Given the description of an element on the screen output the (x, y) to click on. 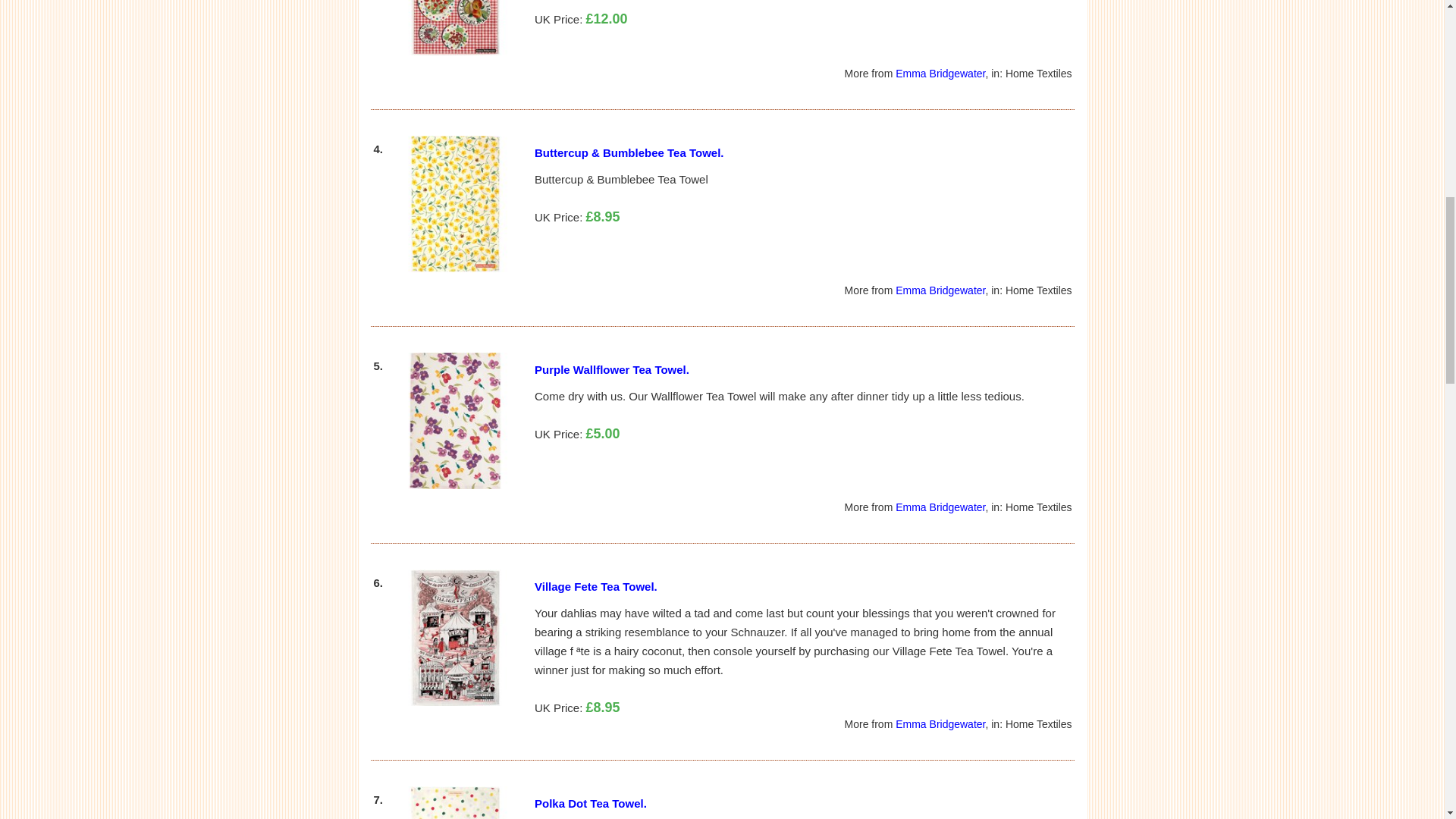
Purple Wallflower Tea Towel. (611, 369)
Emma Bridgewater (940, 290)
Emma Bridgewater (940, 73)
